Given the description of an element on the screen output the (x, y) to click on. 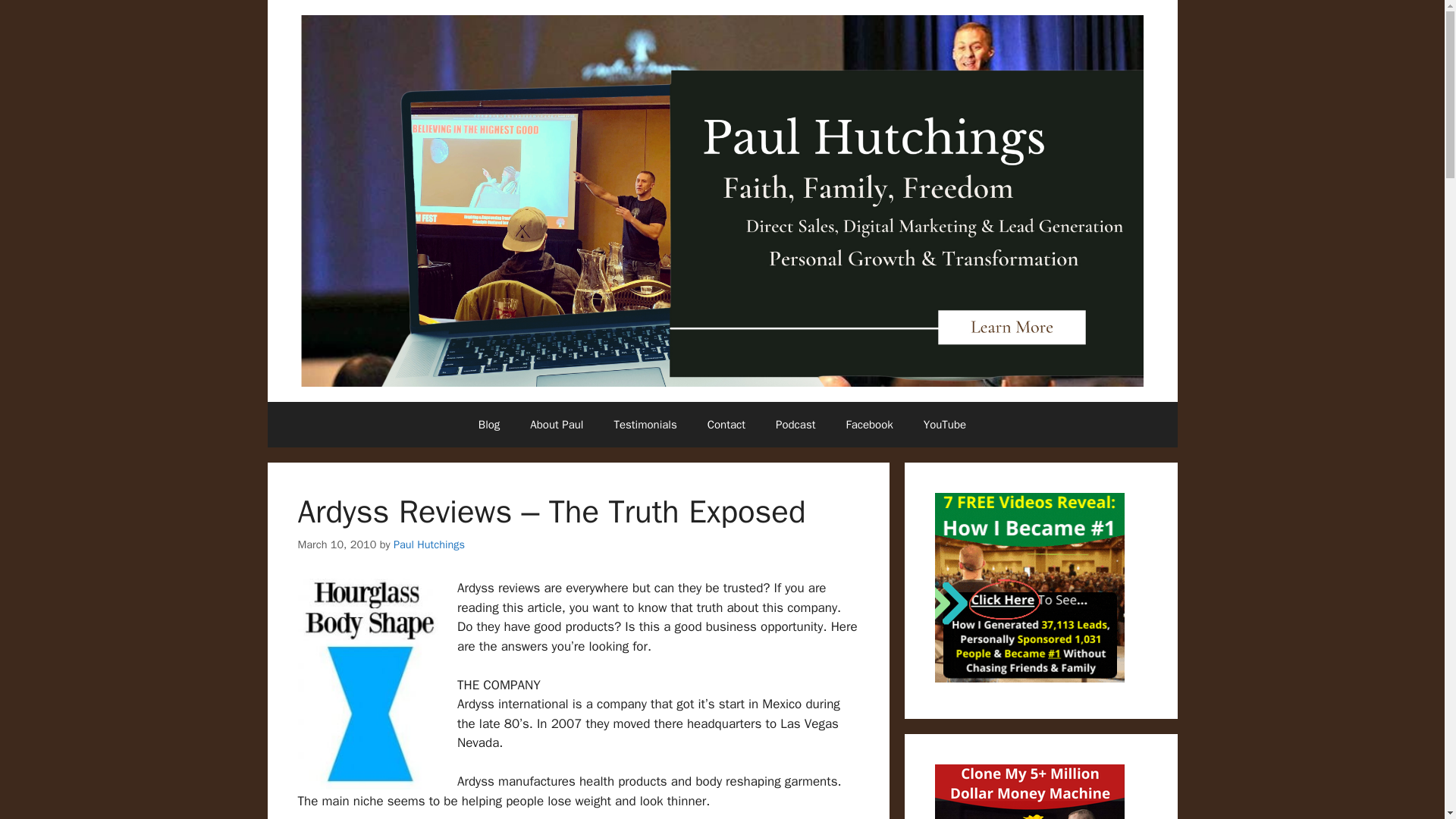
About Paul (556, 424)
Podcast (794, 424)
YouTube (944, 424)
Contact (726, 424)
Blog (489, 424)
Facebook (868, 424)
View all posts by Paul Hutchings (428, 544)
Testimonials (644, 424)
Paul Hutchings (428, 544)
